Given the description of an element on the screen output the (x, y) to click on. 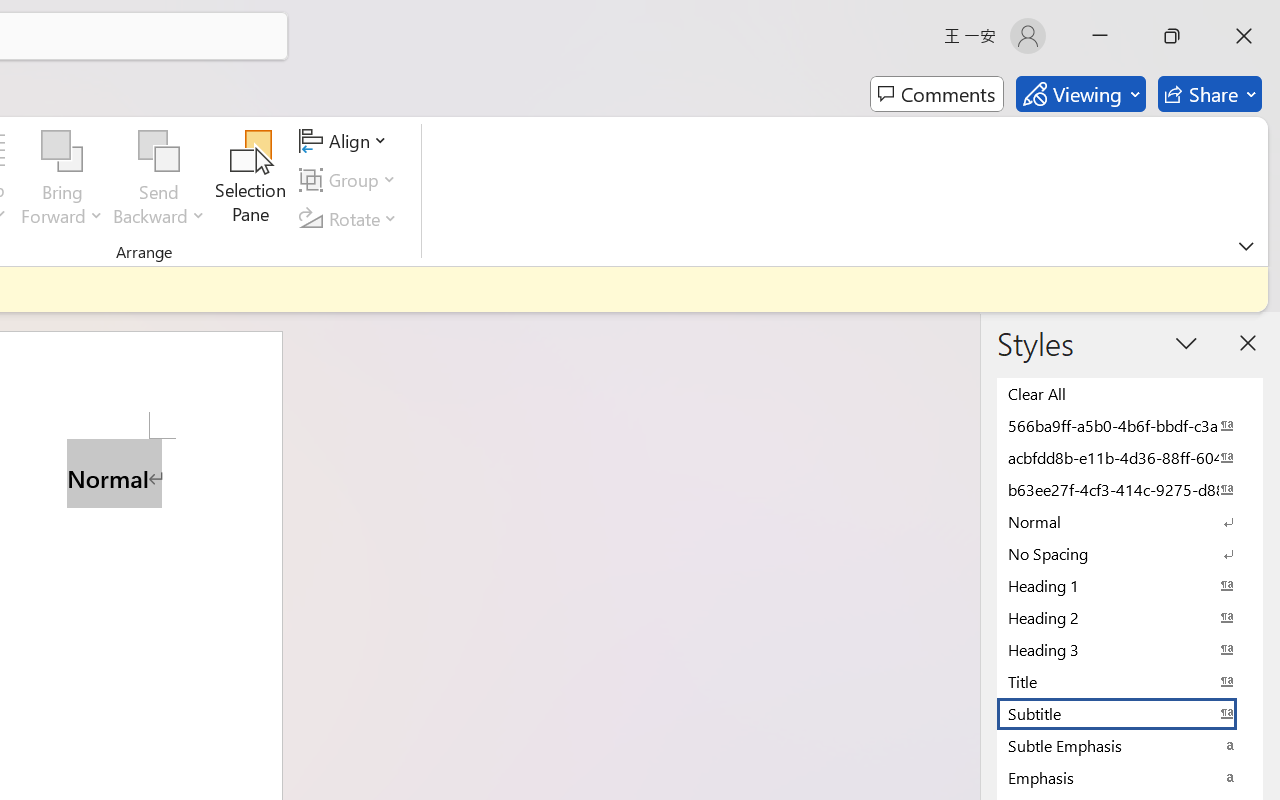
Bring Forward (62, 151)
b63ee27f-4cf3-414c-9275-d88e3f90795e (1130, 489)
acbfdd8b-e11b-4d36-88ff-6049b138f862 (1130, 457)
Task Pane Options (1186, 343)
Align (346, 141)
Send Backward (159, 179)
Mode (1080, 94)
Subtle Emphasis (1130, 745)
Heading 2 (1130, 617)
Group (351, 179)
Clear All (1130, 393)
